Given the description of an element on the screen output the (x, y) to click on. 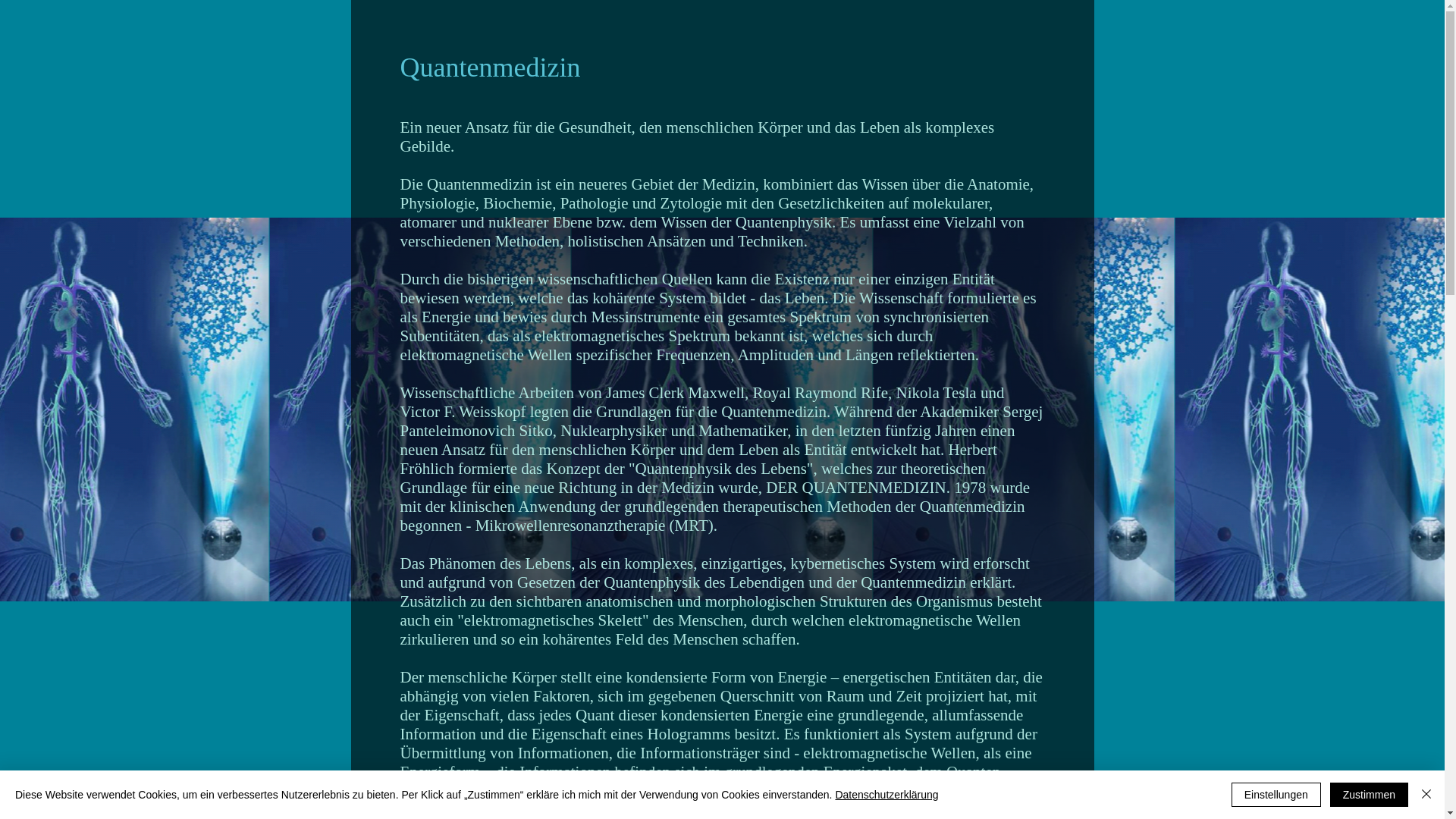
Zustimmen Element type: text (1369, 794)
Einstellungen Element type: text (1276, 794)
